Given the description of an element on the screen output the (x, y) to click on. 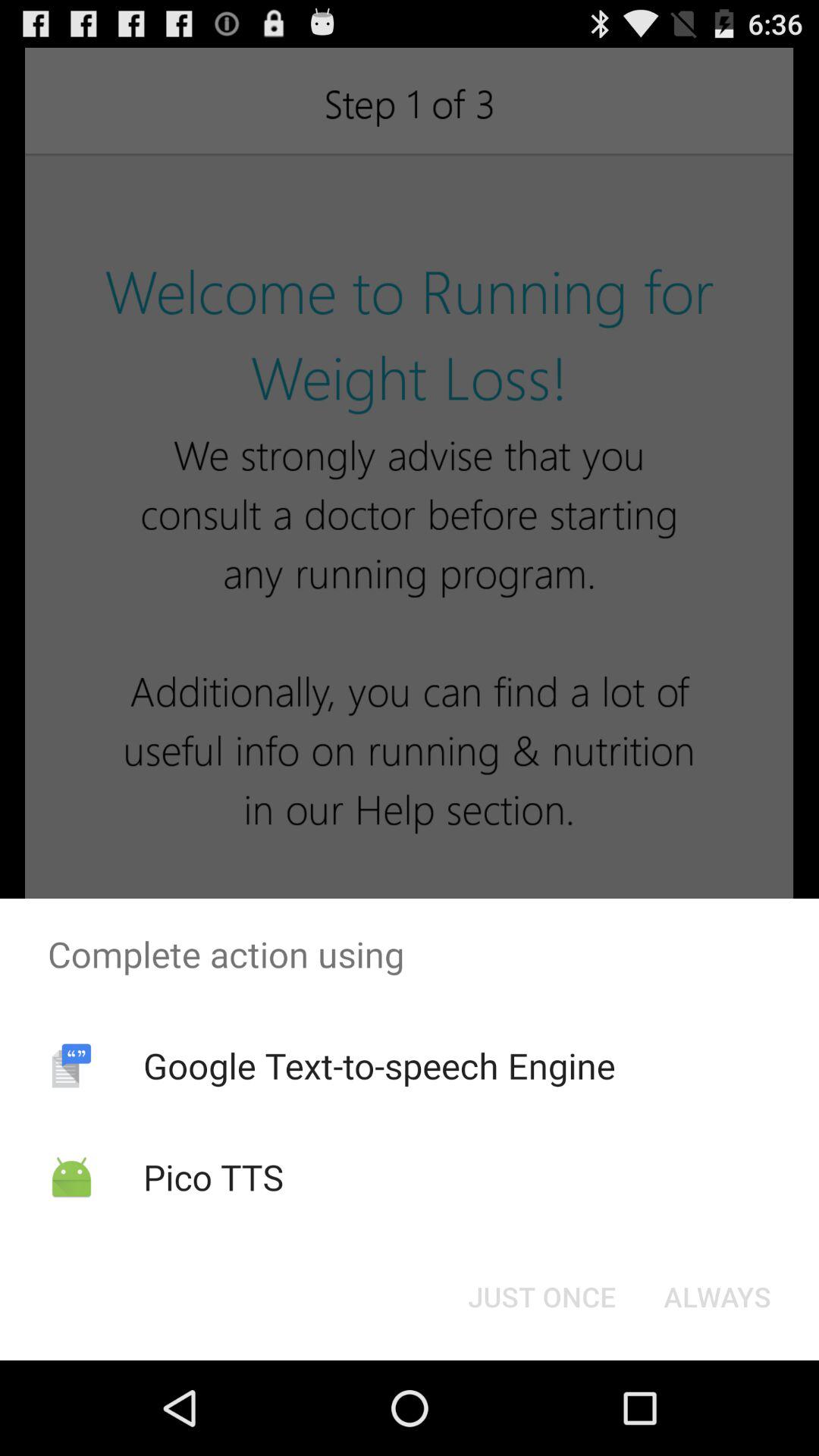
jump to the google text to item (379, 1065)
